Given the description of an element on the screen output the (x, y) to click on. 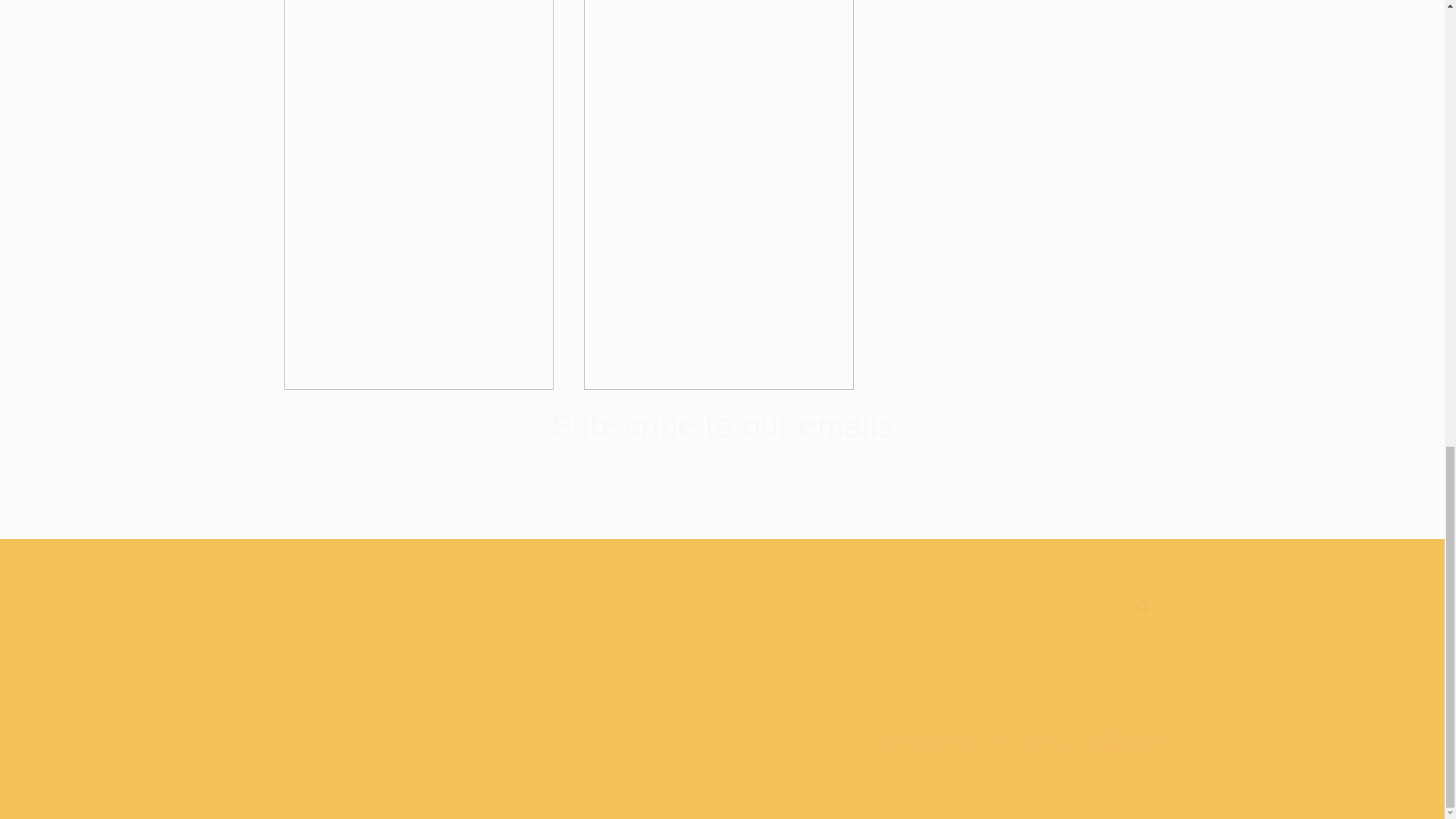
Facebook (721, 605)
Subscribe to our emails (722, 426)
Email (722, 481)
